Given the description of an element on the screen output the (x, y) to click on. 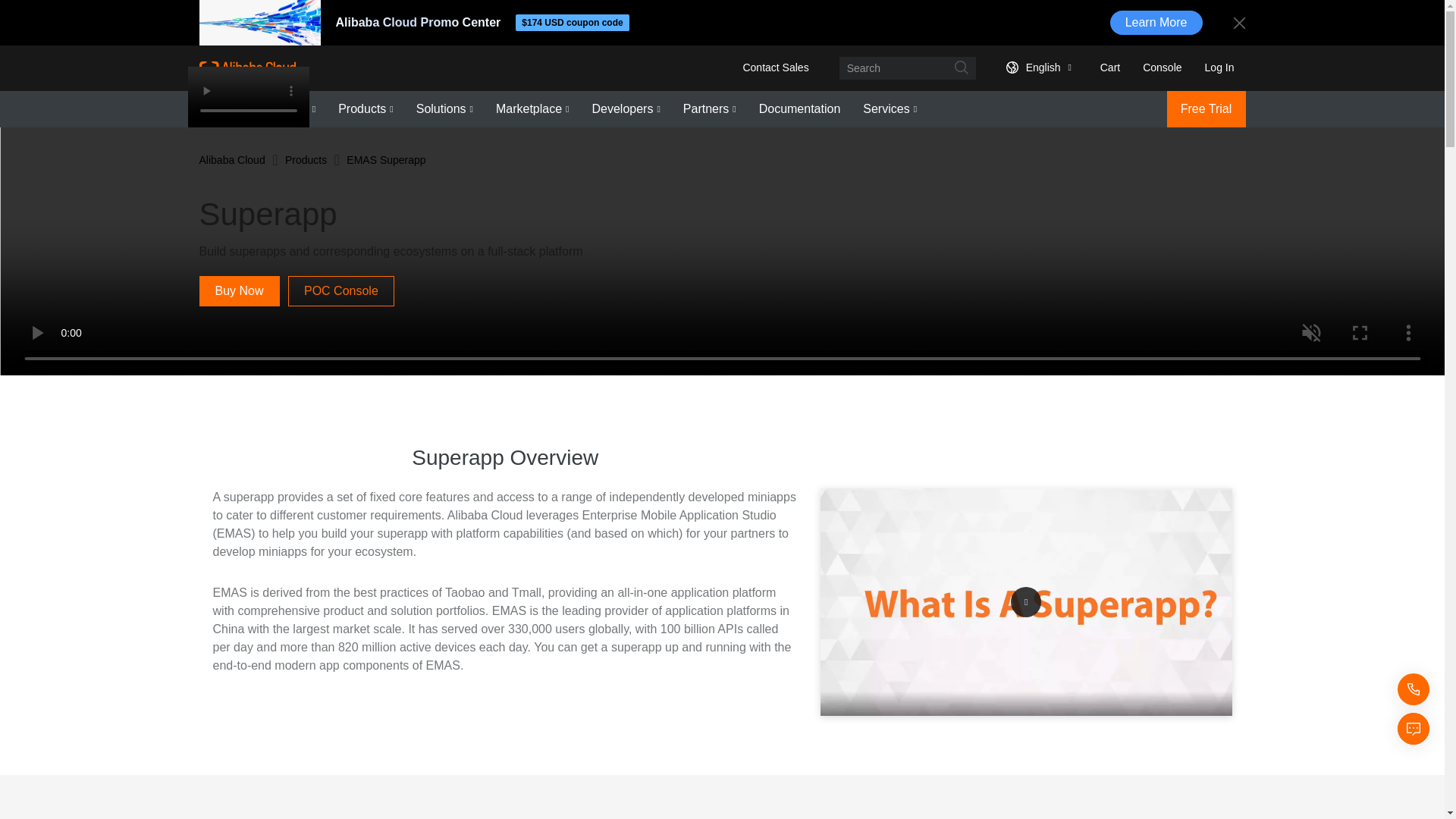
Alibaba Cloud (246, 67)
Contact Sales (774, 67)
English (1035, 67)
